Given the description of an element on the screen output the (x, y) to click on. 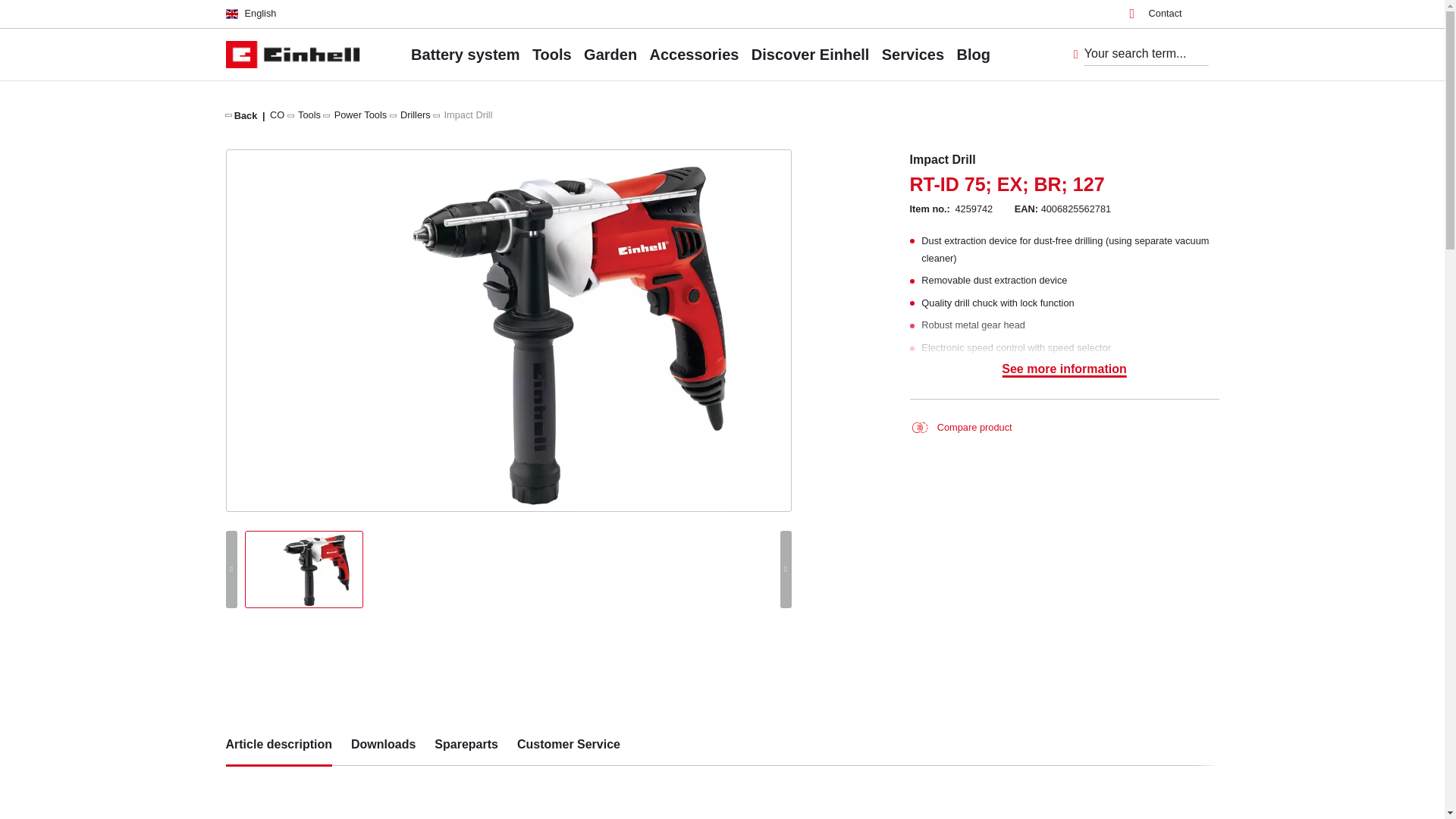
CO (276, 114)
Battery system (464, 54)
Power Tools (360, 114)
Garden (610, 54)
Tools (309, 114)
Drillers (415, 114)
Contact (1155, 13)
